Given the description of an element on the screen output the (x, y) to click on. 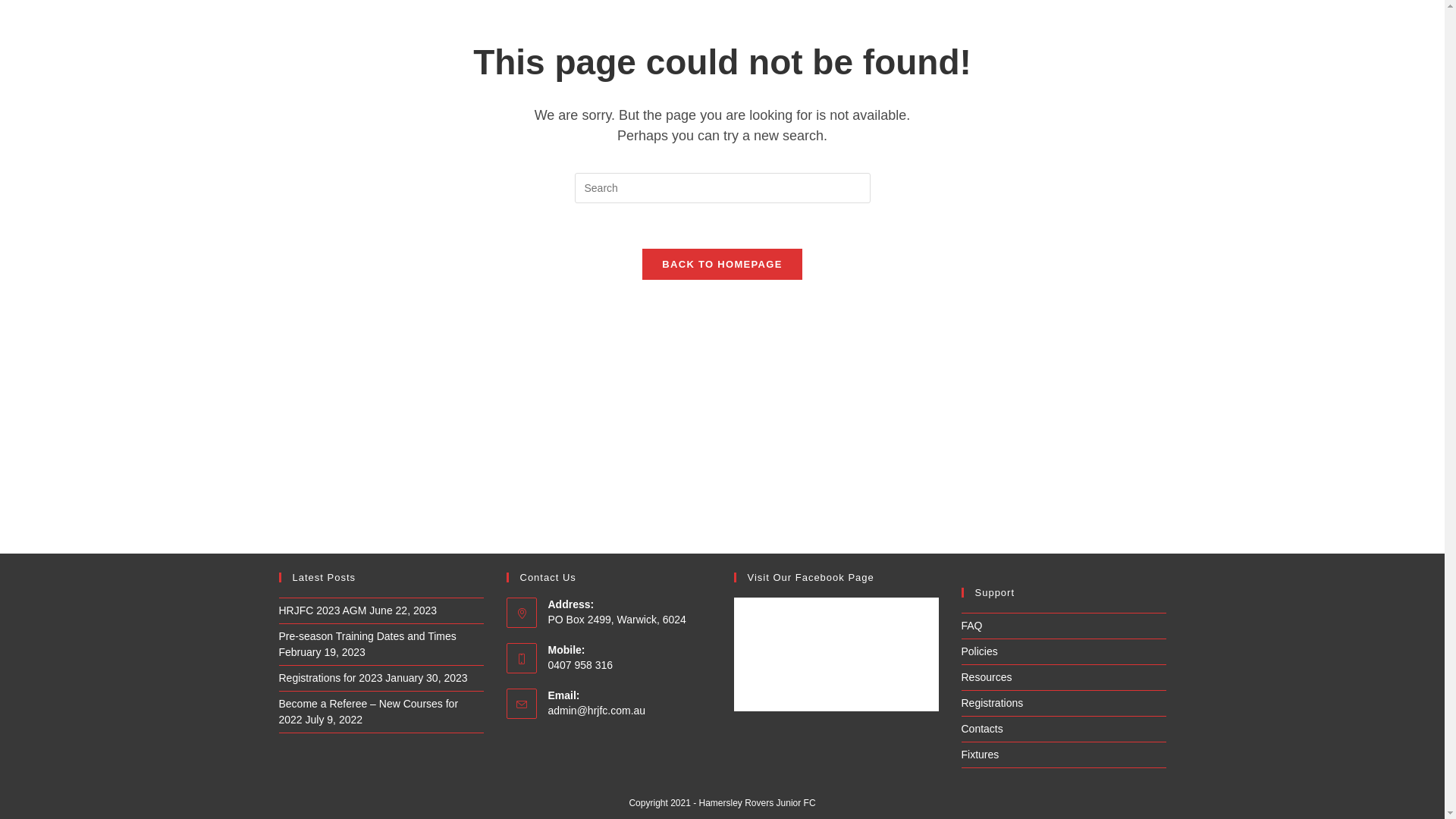
Contacts Element type: text (982, 728)
Resources Element type: text (986, 677)
Visit Our Facebook Page Element type: text (810, 577)
Registrations for 2023 Element type: text (330, 677)
BACK TO HOMEPAGE Element type: text (721, 263)
FAQ Element type: text (971, 625)
Fixtures Element type: text (980, 754)
Policies Element type: text (979, 651)
Pre-season Training Dates and Times Element type: text (367, 636)
HRJFC 2023 AGM Element type: text (323, 610)
Registrations Element type: text (992, 702)
admin@hrjfc.com.au Element type: text (596, 710)
